Given the description of an element on the screen output the (x, y) to click on. 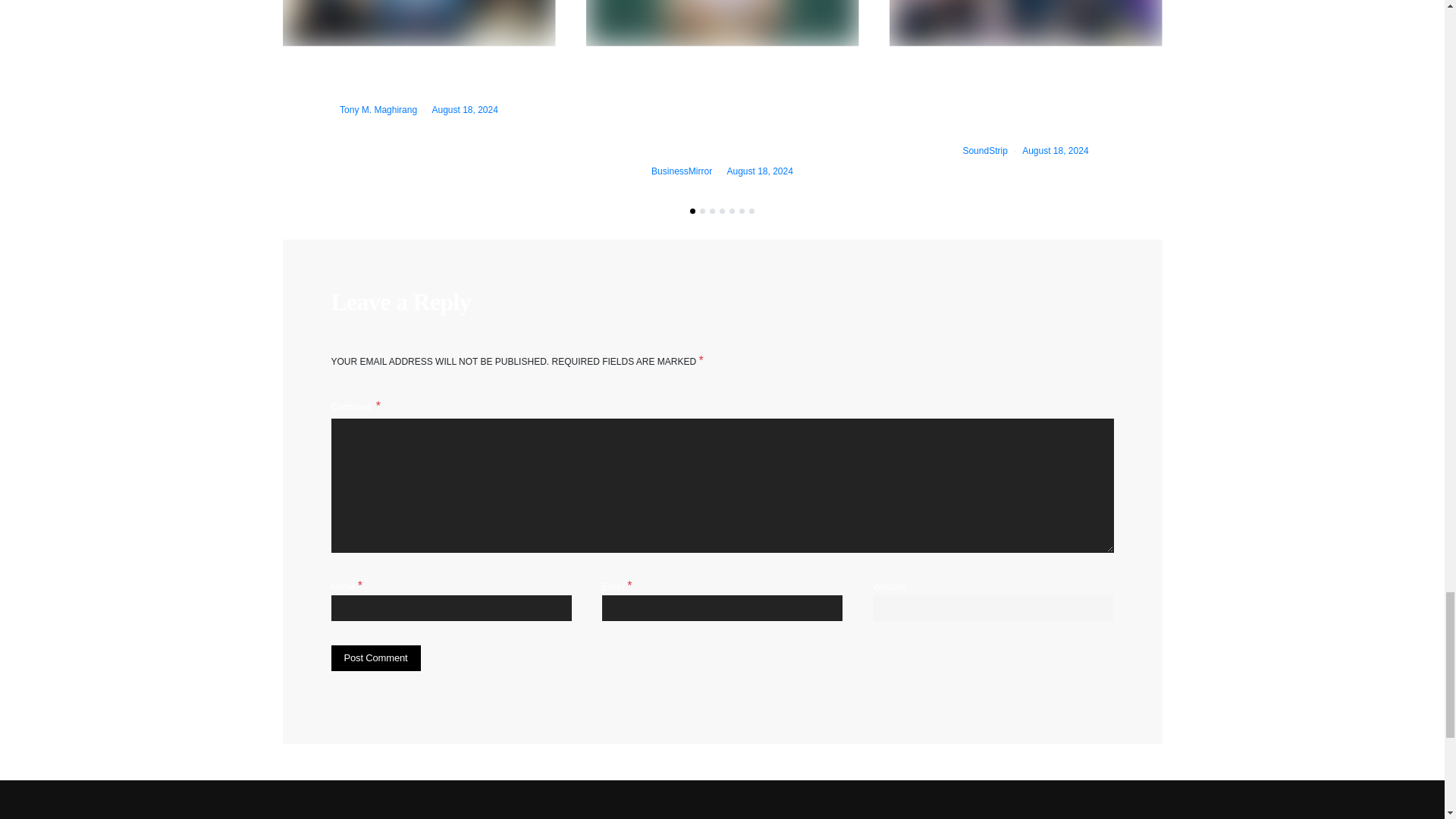
View all posts by SoundStrip (984, 150)
View all posts by BusinessMirror (680, 171)
View all posts by Tony M. Maghirang (377, 109)
Post Comment (375, 657)
